Given the description of an element on the screen output the (x, y) to click on. 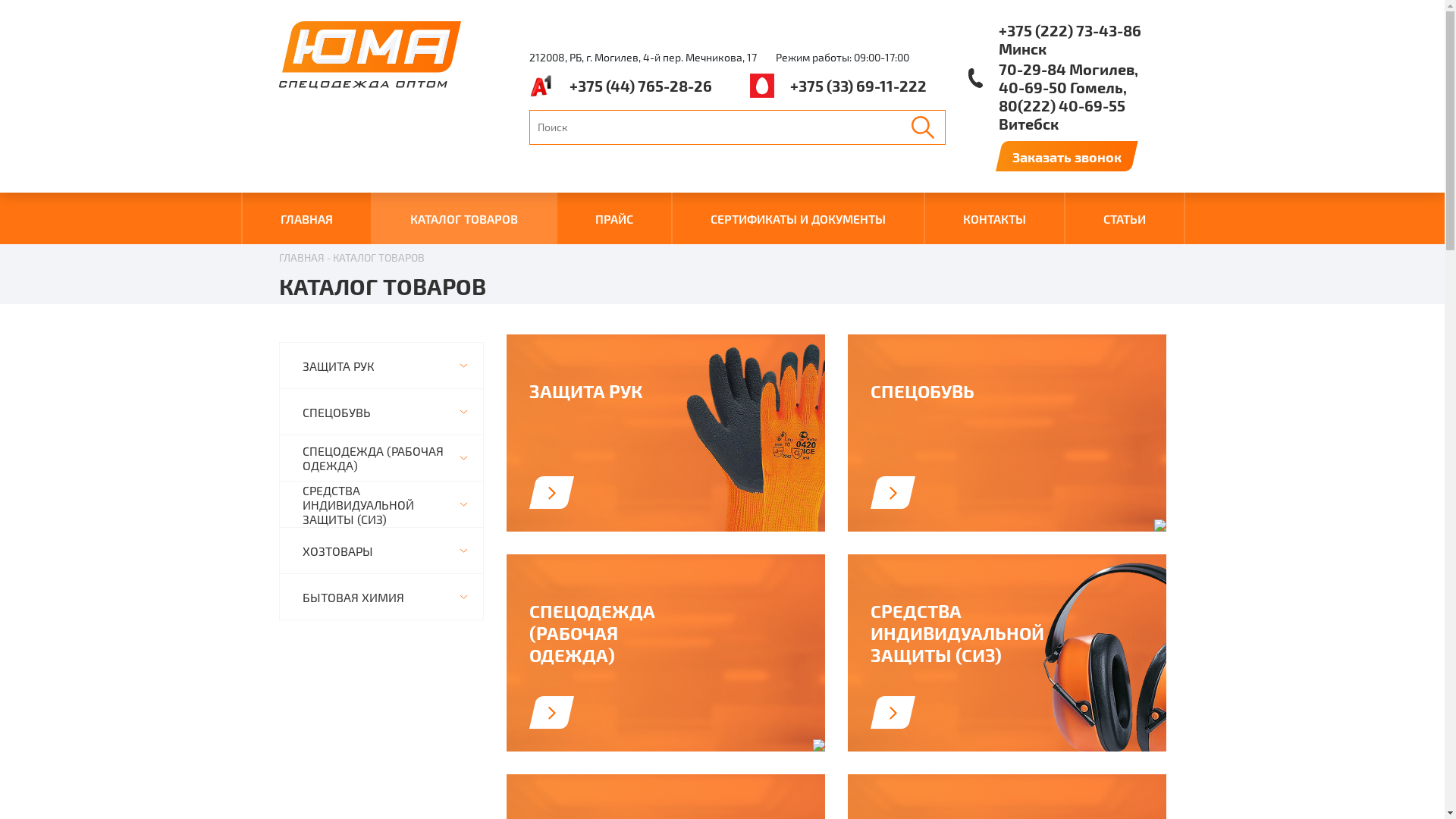
+375 (44) 765-28-26 Element type: text (620, 84)
+375 (33) 69-11-222 Element type: text (837, 84)
